Given the description of an element on the screen output the (x, y) to click on. 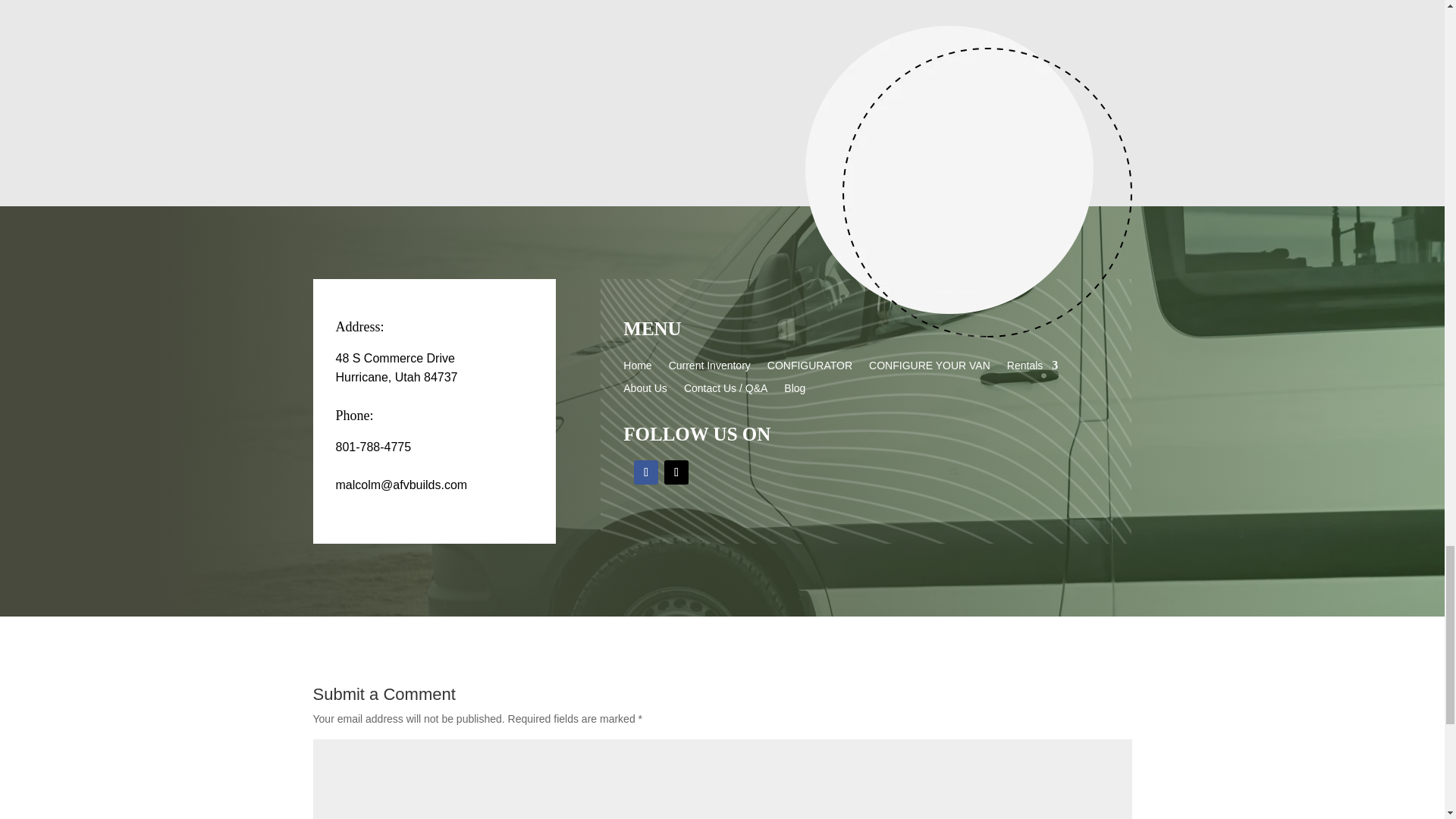
Follow on X (675, 472)
Blog (794, 391)
estate-planning-36 (968, 181)
Home (636, 368)
About Us (644, 391)
Current Inventory (709, 368)
Follow on Facebook (645, 472)
Adventure Van Rentals (722, 39)
CONFIGURE YOUR VAN (929, 368)
CONFIGURATOR (809, 368)
Rentals (1032, 368)
